Given the description of an element on the screen output the (x, y) to click on. 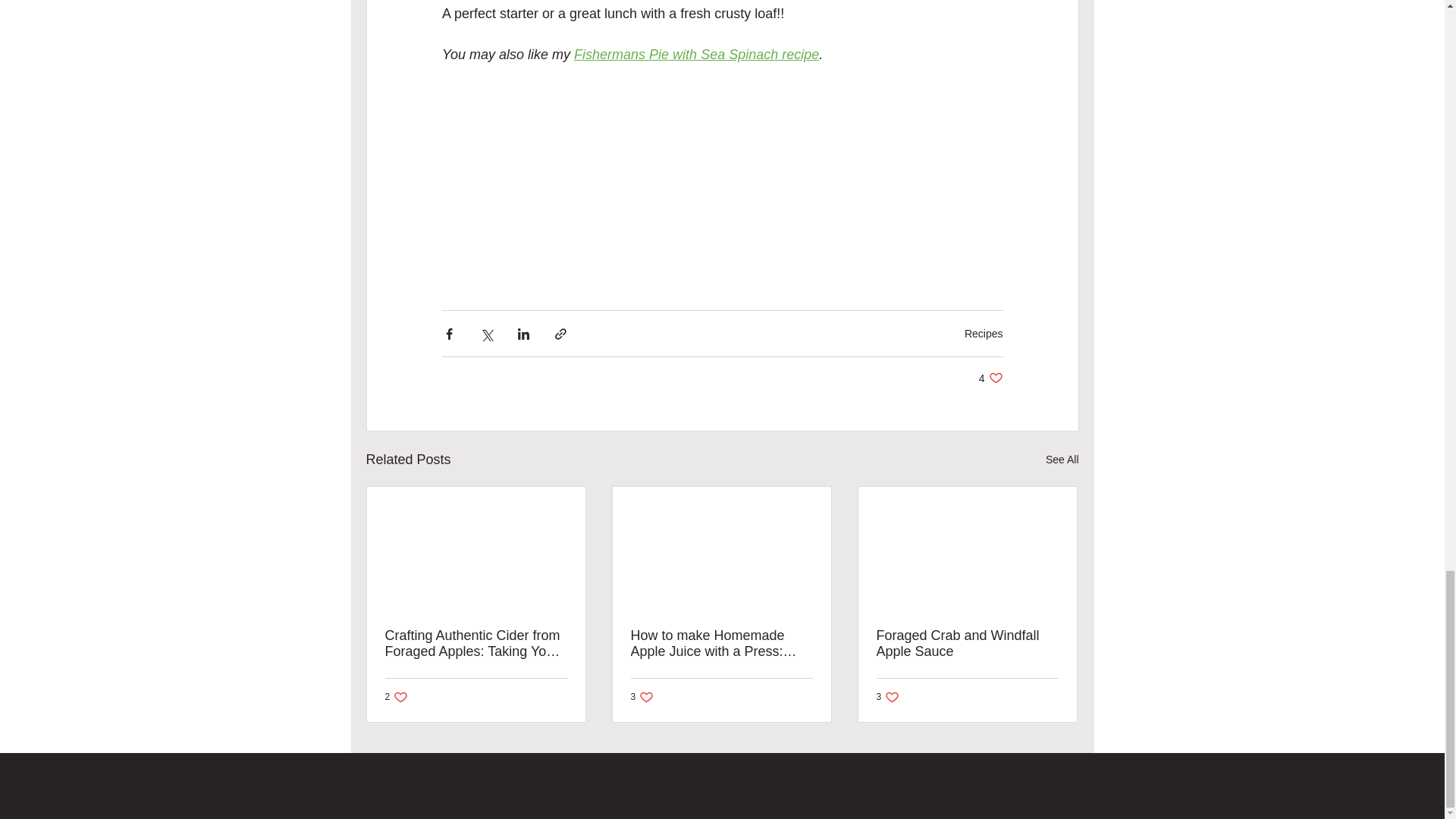
Foraged Crab and Windfall Apple Sauce (967, 644)
Fishermans Pie with Sea Spinach recipe (695, 54)
See All (990, 377)
Recipes (397, 696)
